Given the description of an element on the screen output the (x, y) to click on. 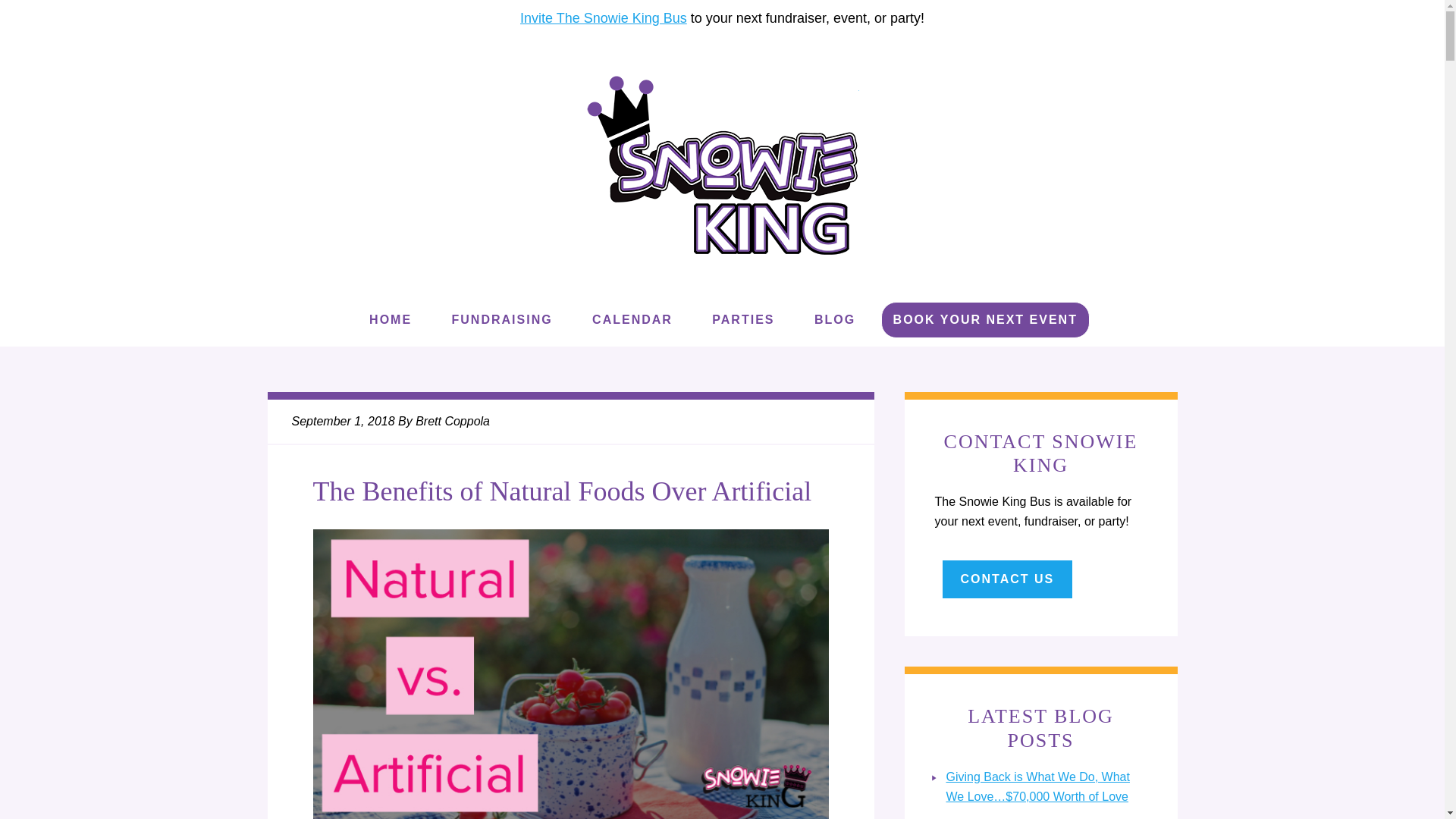
HOME (389, 320)
BLOG (834, 320)
FUNDRAISING (501, 320)
Invite The Snowie King Bus (603, 17)
CALENDAR (631, 320)
PARTIES (743, 320)
The Benefits of Natural Foods Over Artificial (561, 490)
BOOK YOUR NEXT EVENT (985, 319)
Snowie King (722, 165)
